Given the description of an element on the screen output the (x, y) to click on. 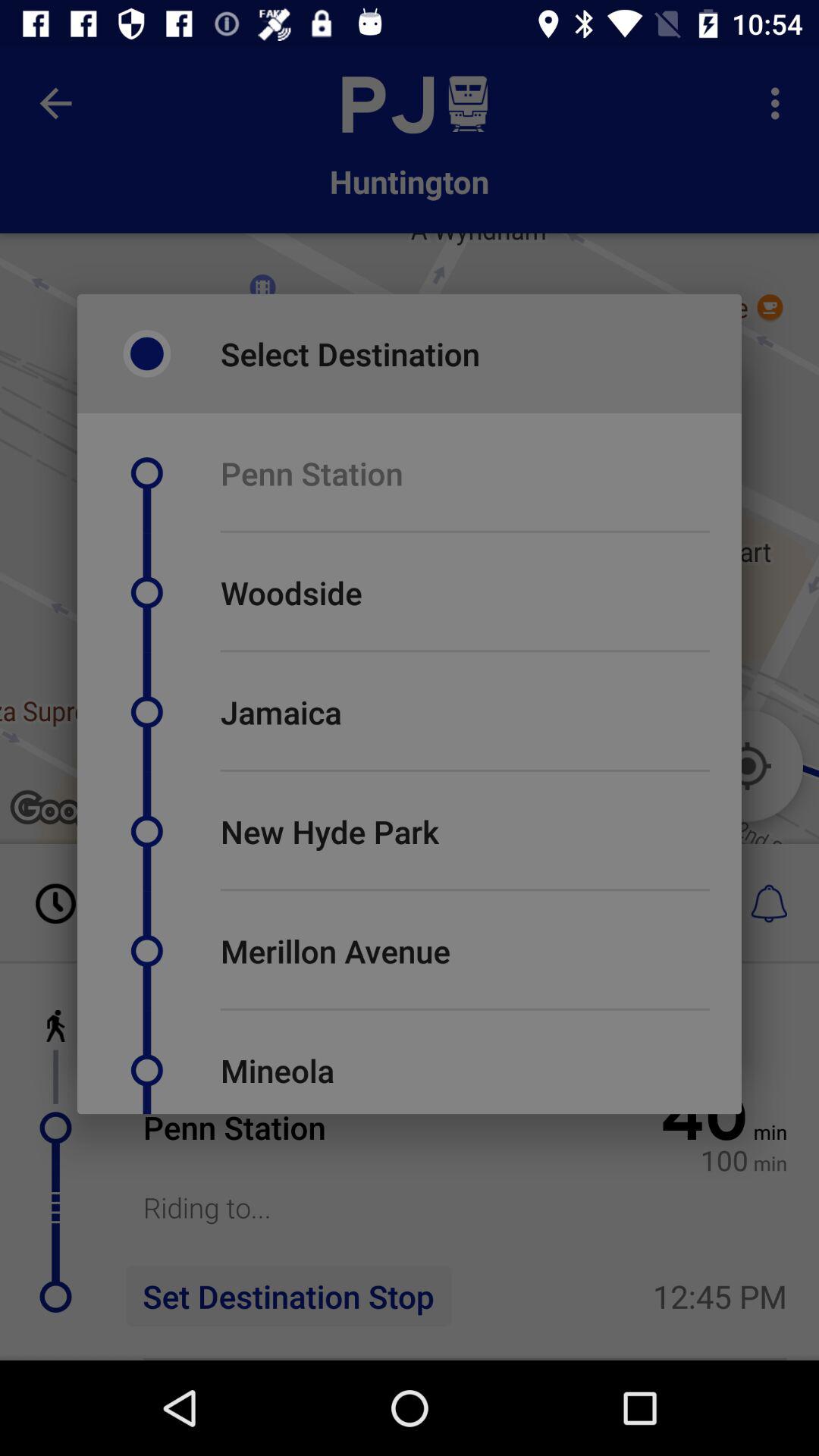
turn off the item below the select destination icon (311, 472)
